Given the description of an element on the screen output the (x, y) to click on. 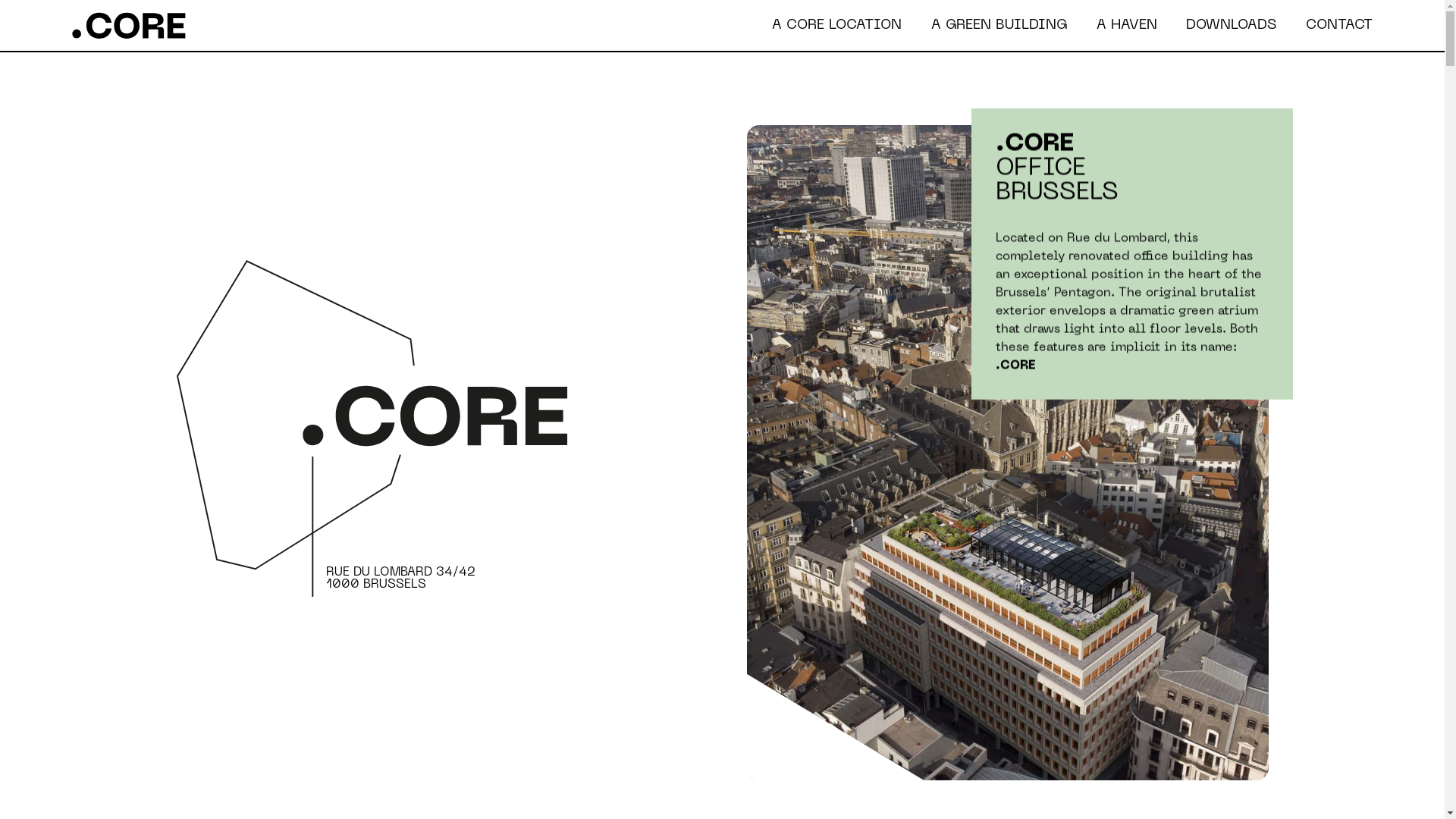
CONTACT Element type: text (1338, 24)
A GREEN BUILDING Element type: text (998, 24)
A HAVEN Element type: text (1126, 24)
DOWNLOADS Element type: text (1230, 24)
A CORE LOCATION Element type: text (836, 24)
RUE DU LOMBARD 34/42
1000 BRUSSELS Element type: text (378, 428)
